Given the description of an element on the screen output the (x, y) to click on. 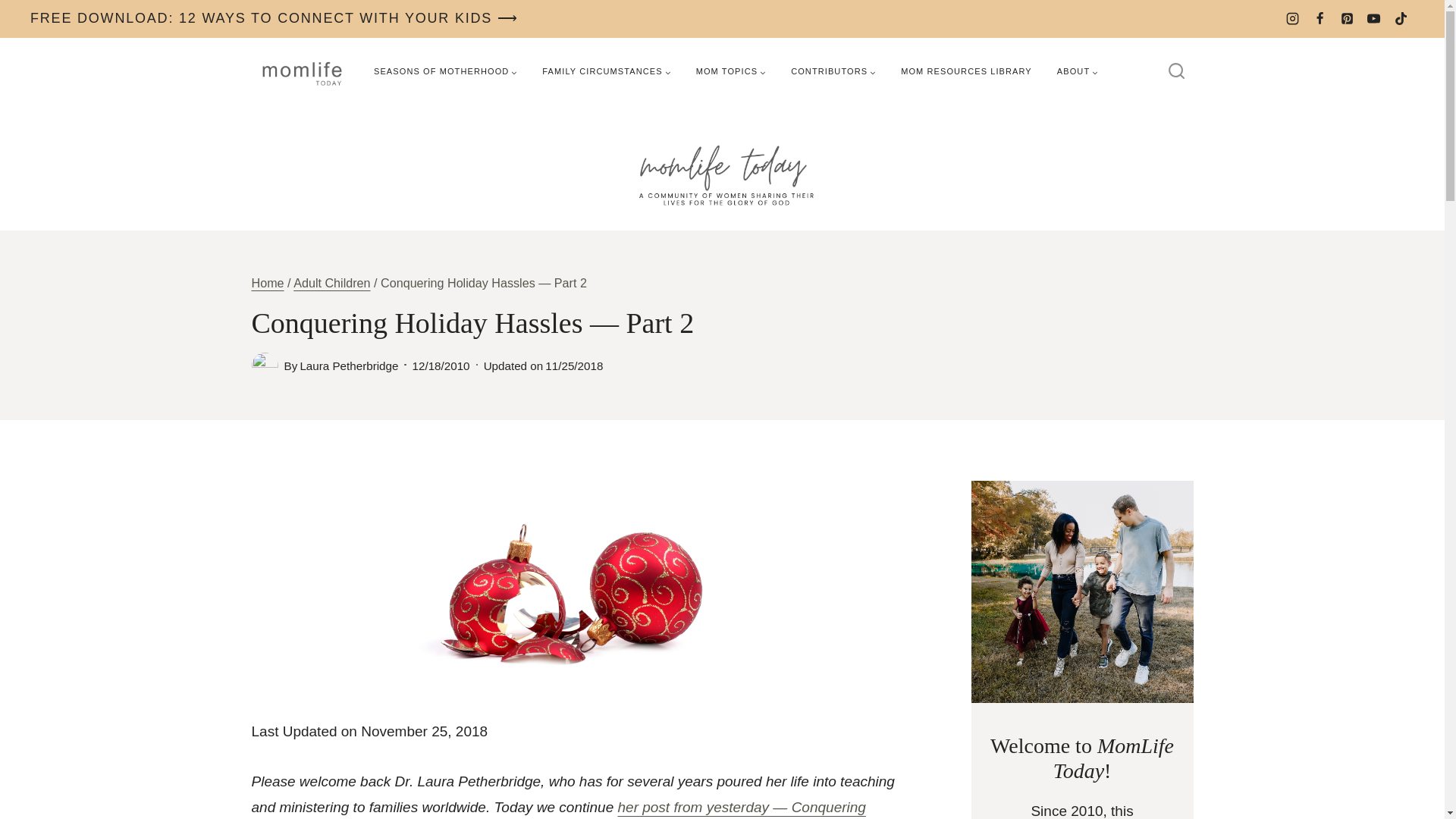
CONTRIBUTORS (833, 71)
FAMILY CIRCUMSTANCES (605, 71)
SEASONS OF MOTHERHOOD (445, 71)
MOM RESOURCES LIBRARY (966, 71)
MOM TOPICS (730, 71)
